Given the description of an element on the screen output the (x, y) to click on. 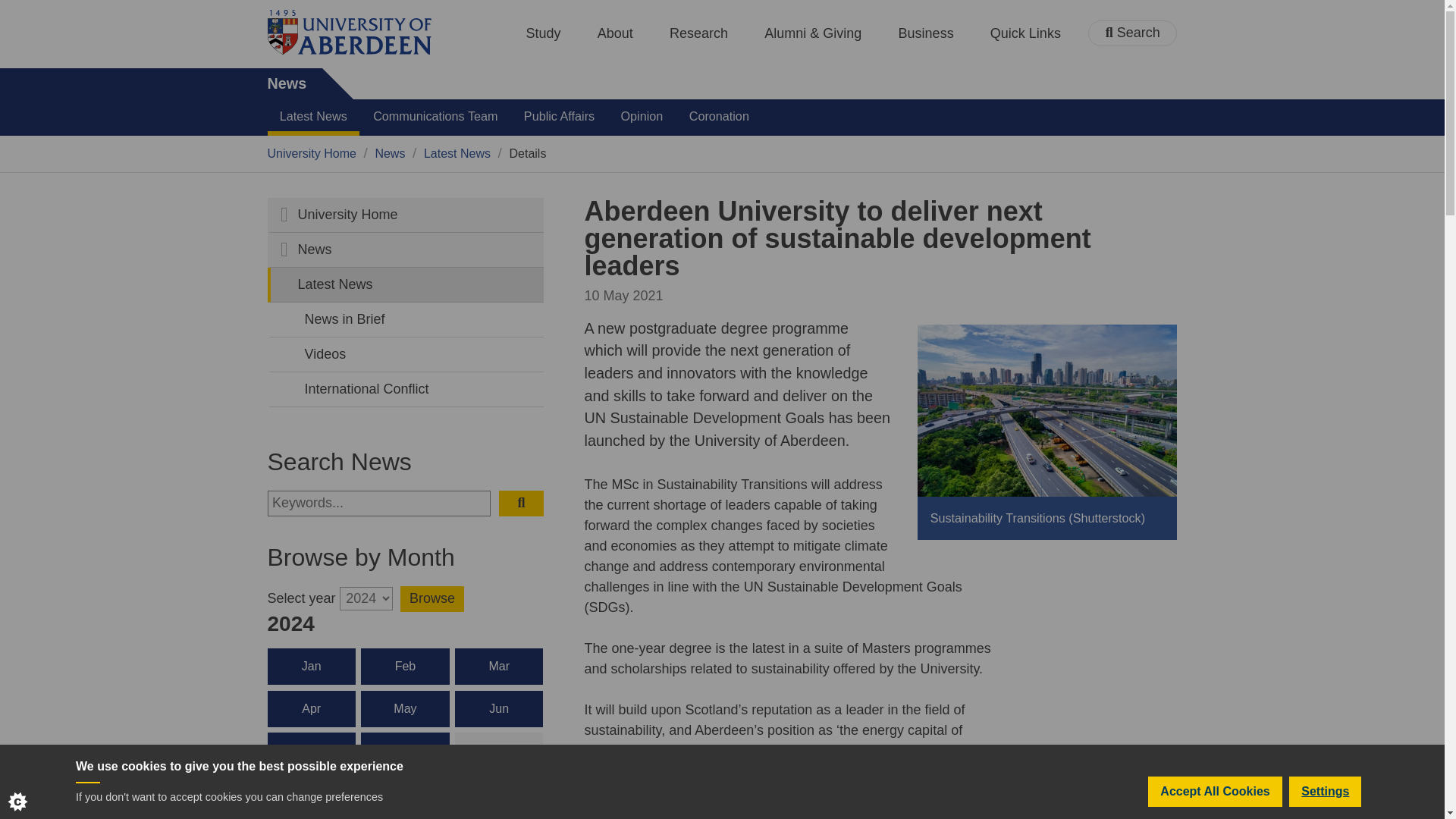
About (614, 33)
View items for February 2024 (404, 666)
View items for January 2024 (311, 666)
View items for August 2024 (404, 750)
View items for March 2024 (498, 666)
View items for May 2024 (404, 709)
View items for July 2024 (311, 750)
View items for April 2024 (311, 709)
Settings (1324, 805)
Accept All Cookies (1214, 808)
